Given the description of an element on the screen output the (x, y) to click on. 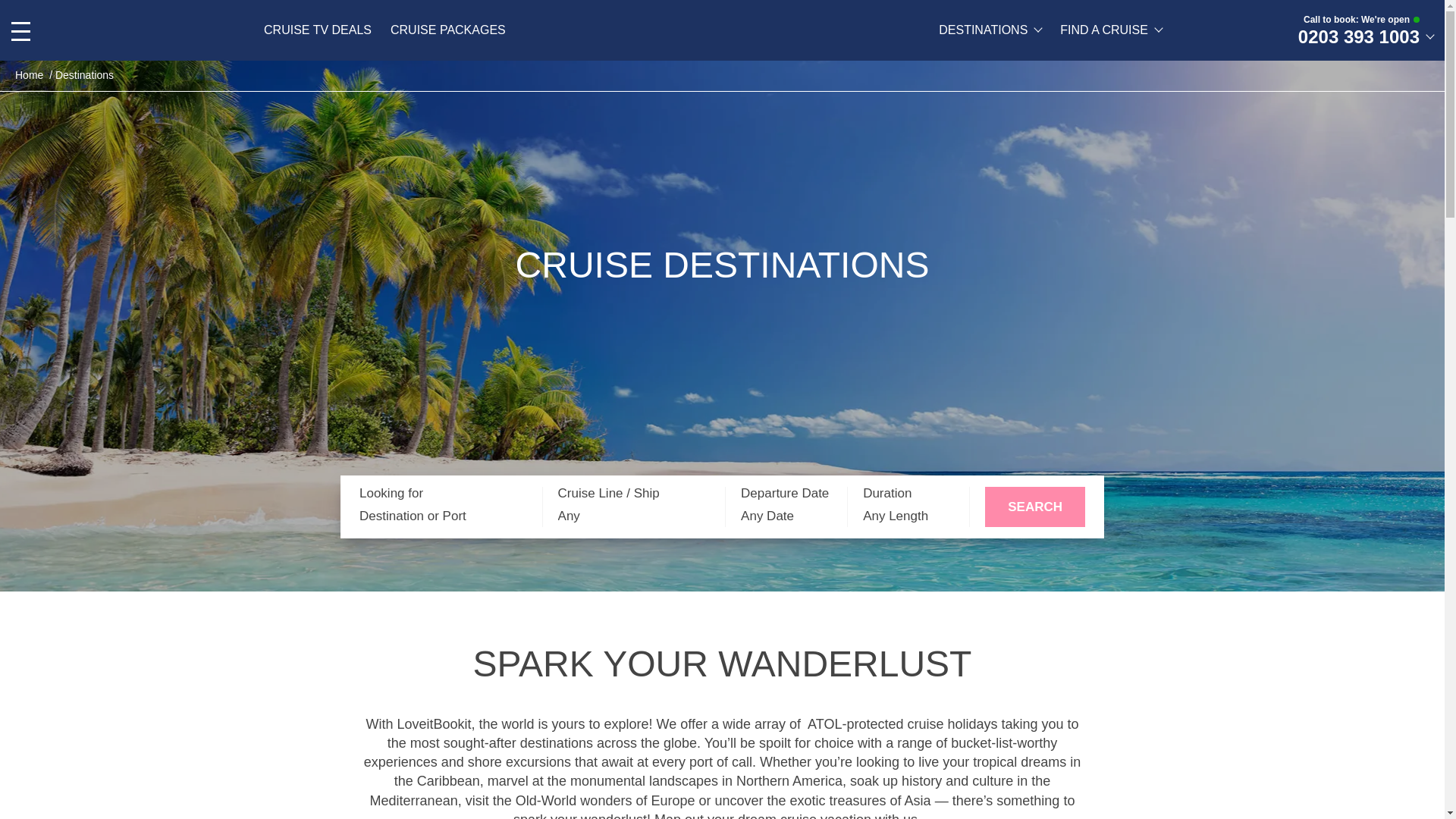
CRUISE PACKAGES (447, 30)
CRUISE TV DEALS (317, 30)
DESTINATIONS (990, 30)
